Given the description of an element on the screen output the (x, y) to click on. 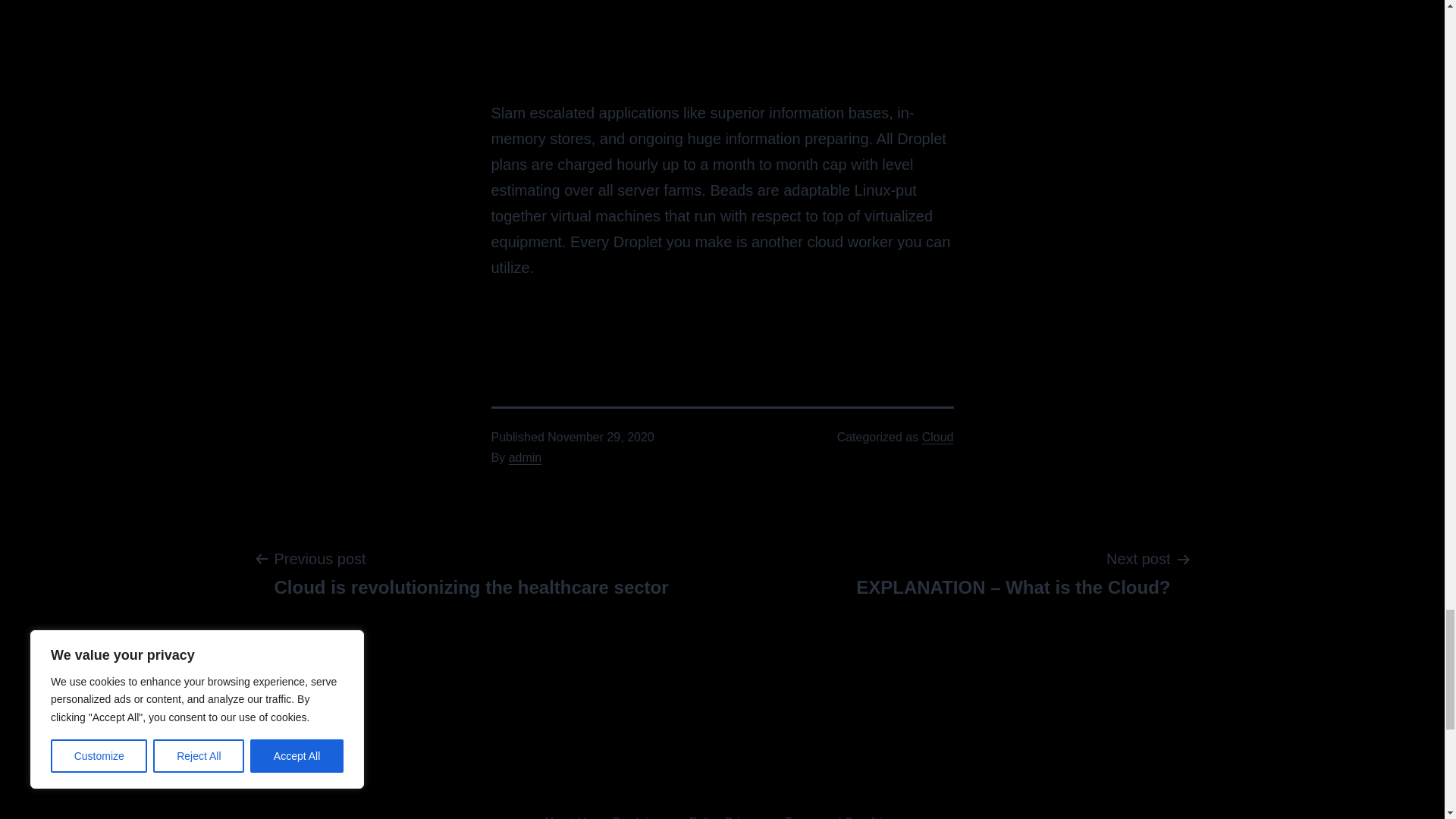
Terms and Conditions (843, 811)
Disclaimer (640, 811)
Policy Privacy (726, 811)
admin (524, 457)
Cloud (470, 572)
About Us (937, 436)
